Given the description of an element on the screen output the (x, y) to click on. 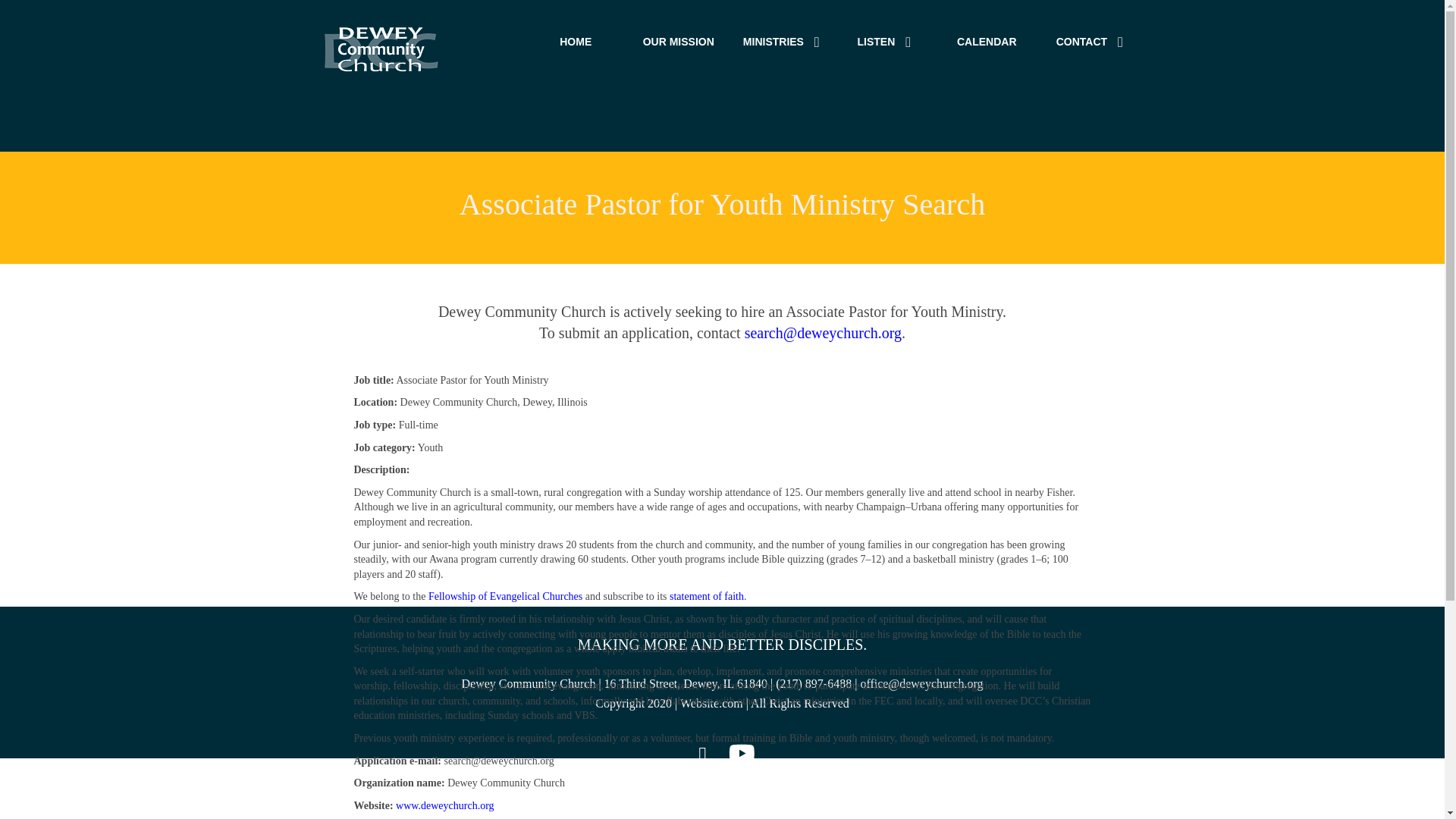
statement of faith (706, 595)
OUR MISSION (678, 43)
www.deweychurch.org (444, 805)
LISTEN (884, 43)
CONTACT (1089, 43)
HOME (576, 43)
CALENDAR (986, 43)
the Fellowship of Evangelical Churches (497, 595)
MINISTRIES (780, 43)
